Given the description of an element on the screen output the (x, y) to click on. 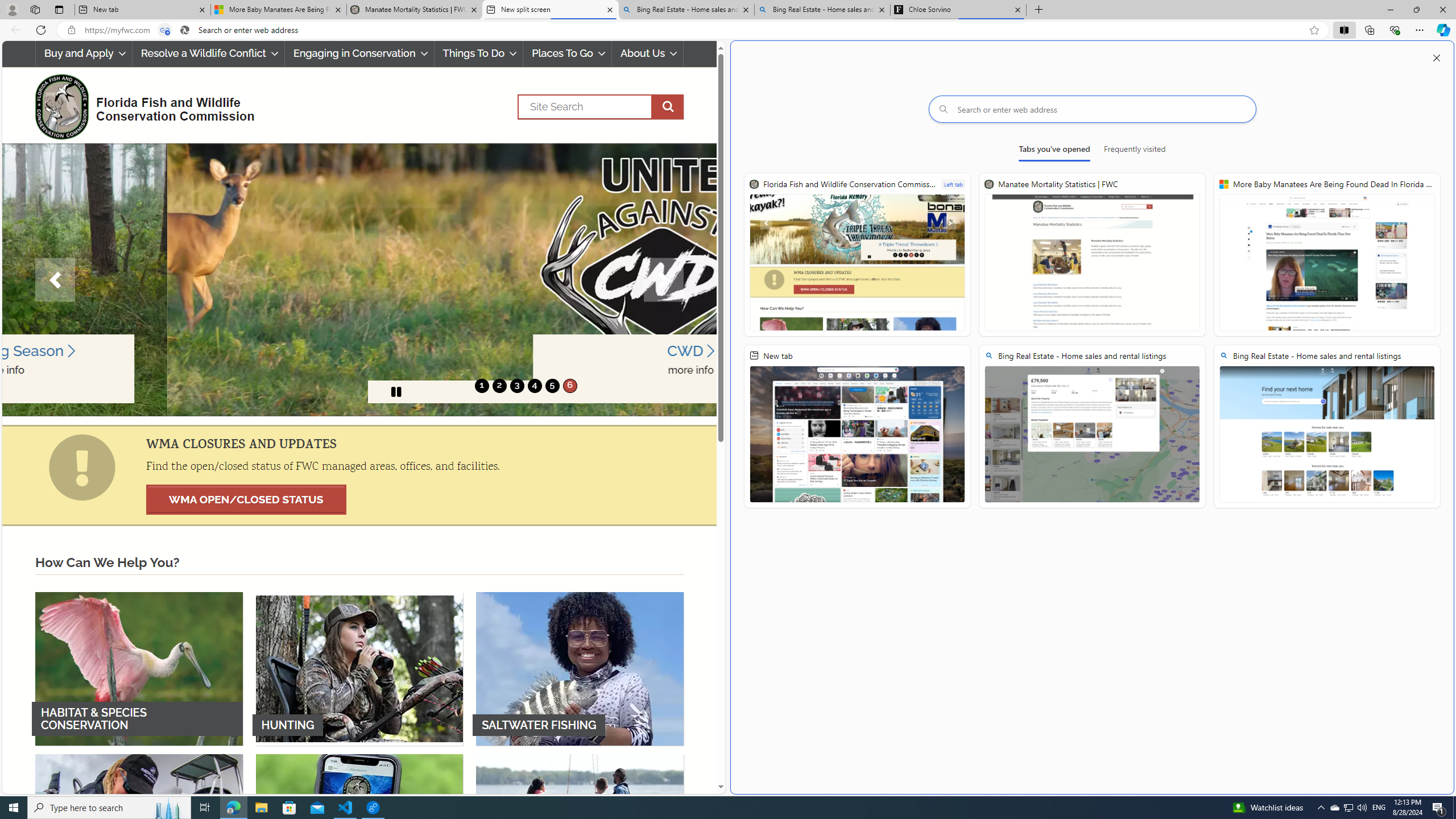
5 (551, 385)
3 (516, 385)
execute site search (667, 106)
move to slide 2 (499, 385)
About Us (647, 53)
Manatee Mortality Statistics | FWC (1092, 254)
move to slide 5 (551, 385)
Frequently visited (1134, 151)
HABITAT & SPECIES CONSERVATION (138, 668)
Florida Fish and Wildlife Conservation Commission | FWC (856, 254)
